Given the description of an element on the screen output the (x, y) to click on. 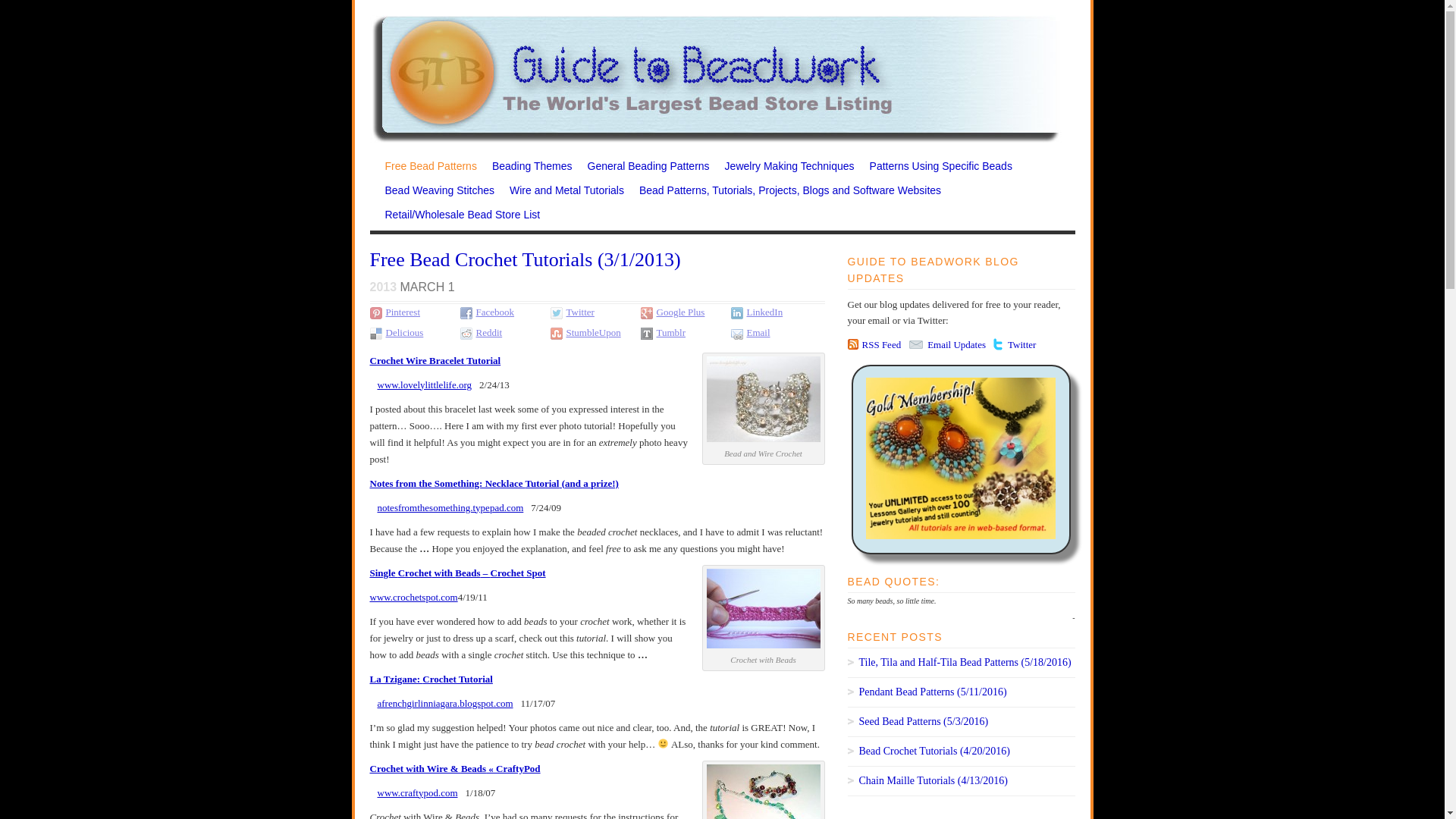
Wire and Metal Tutorials (563, 193)
Tweet this ! (558, 311)
Submit this to Reddit (468, 332)
Submit this to Pinterest (402, 311)
Share this on Facebook (468, 311)
Share this on Google Plus (680, 311)
Submit this to StumbleUpon (558, 332)
Jewelry Making Techniques (785, 169)
Patterns Using Specific Beads (936, 169)
General Beading Patterns (644, 169)
